Given the description of an element on the screen output the (x, y) to click on. 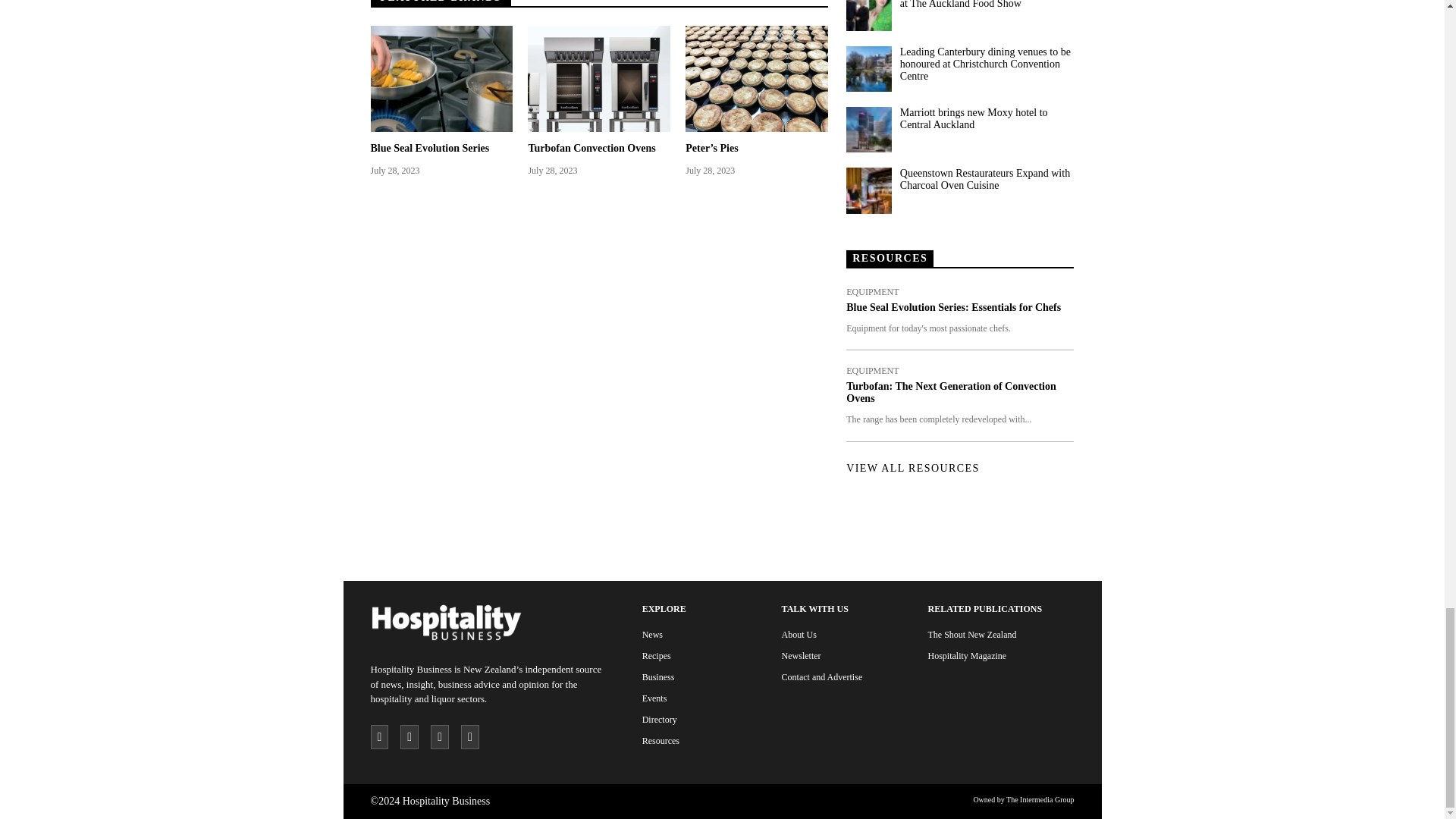
Queenstown Restaurateurs Expand with Charcoal Oven Cuisine (986, 179)
Queenstown Restaurateurs Expand with Charcoal Oven Cuisine (868, 189)
Marriott brings new Moxy hotel to Central Auckland (986, 119)
Marriott brings new Moxy hotel to Central Auckland (868, 129)
